Given the description of an element on the screen output the (x, y) to click on. 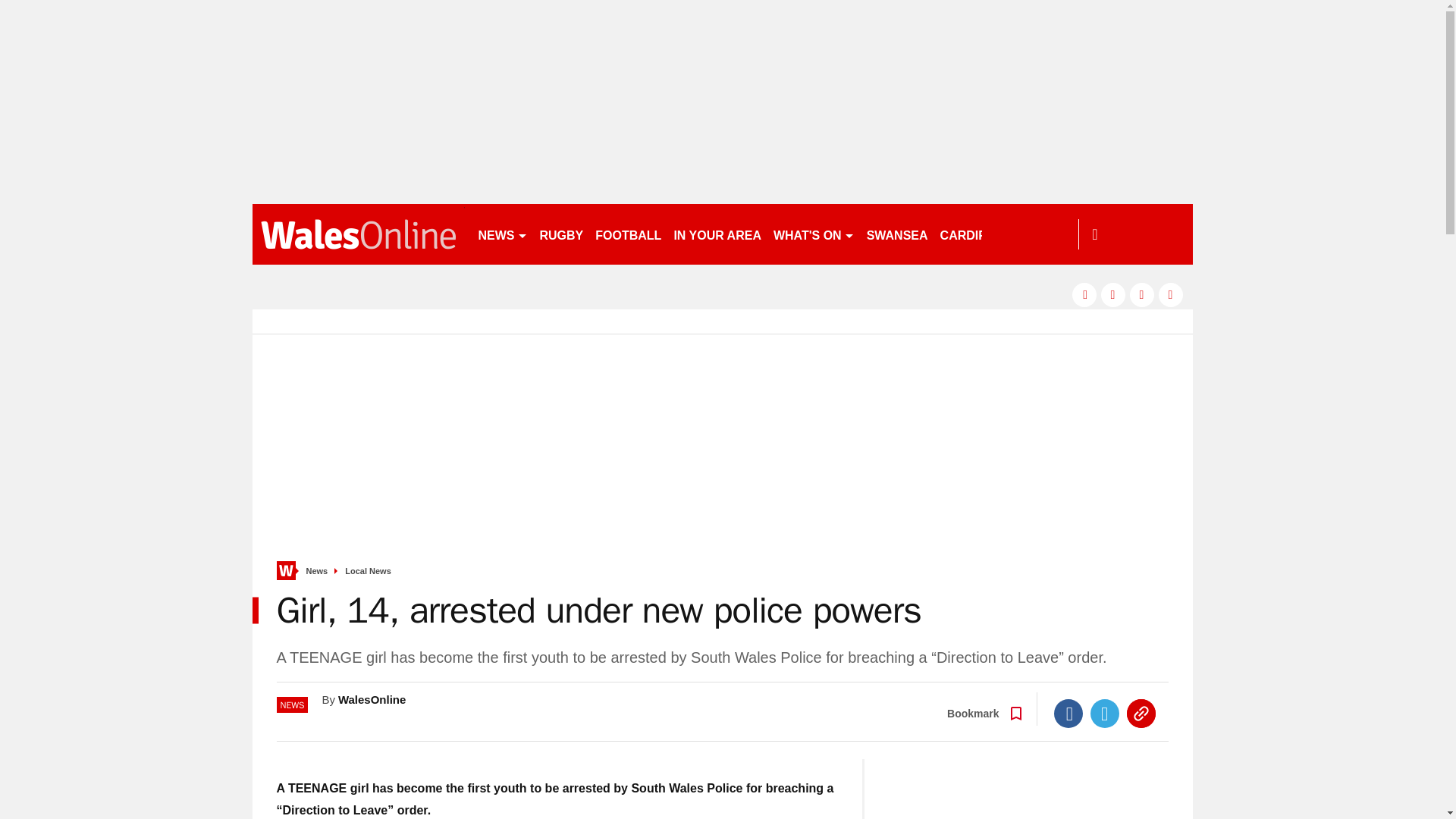
Twitter (1104, 713)
facebook (1083, 294)
walesonline (357, 233)
IN YOUR AREA (716, 233)
instagram (1170, 294)
twitter (1112, 294)
NEWS (501, 233)
FOOTBALL (627, 233)
pinterest (1141, 294)
WHAT'S ON (813, 233)
